Given the description of an element on the screen output the (x, y) to click on. 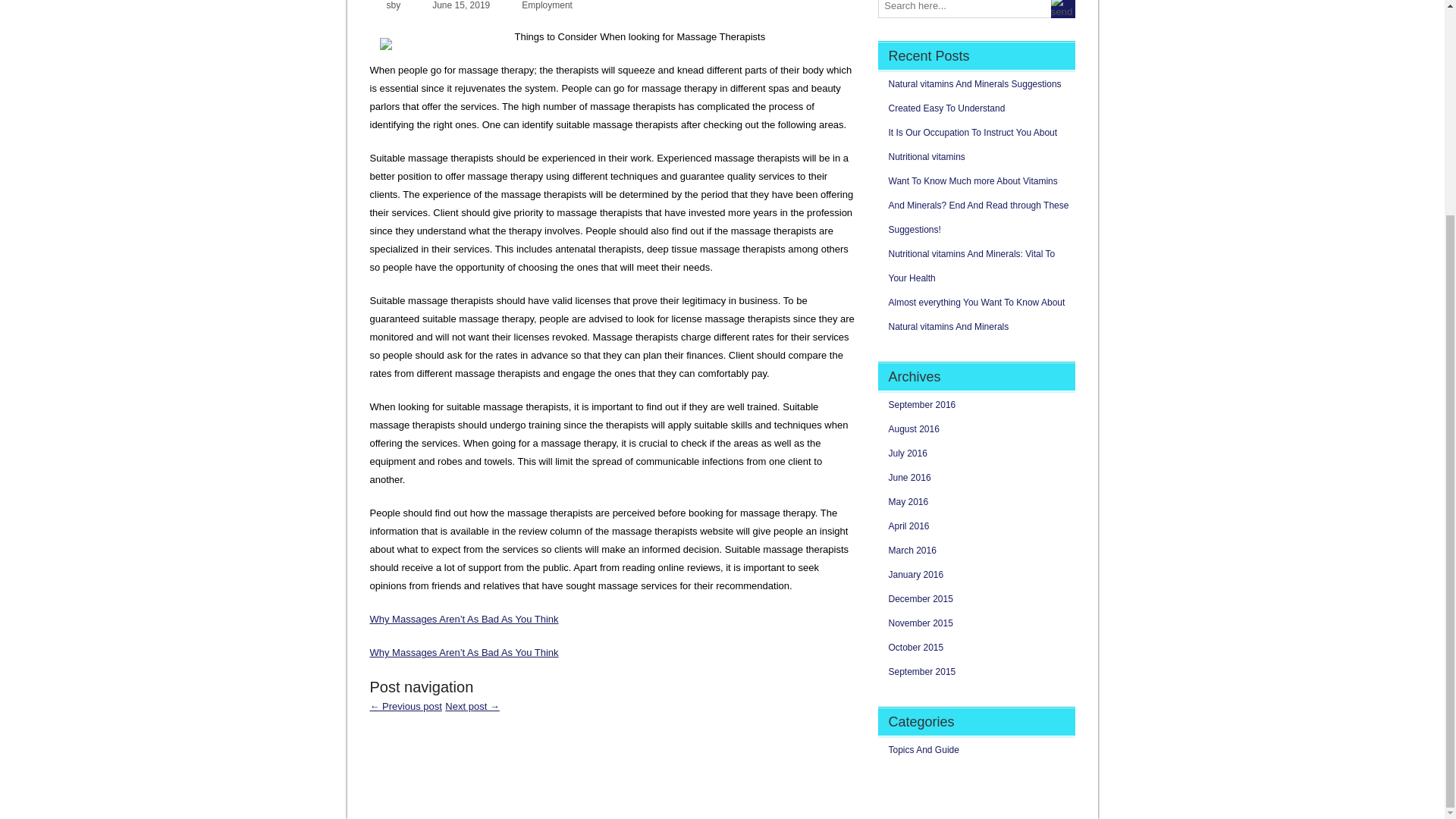
November 2015 (920, 623)
June 15, 2019 (460, 5)
March 2016 (912, 550)
July 2016 (907, 452)
May 2016 (908, 501)
August 2016 (913, 429)
September 2015 (922, 671)
